Given the description of an element on the screen output the (x, y) to click on. 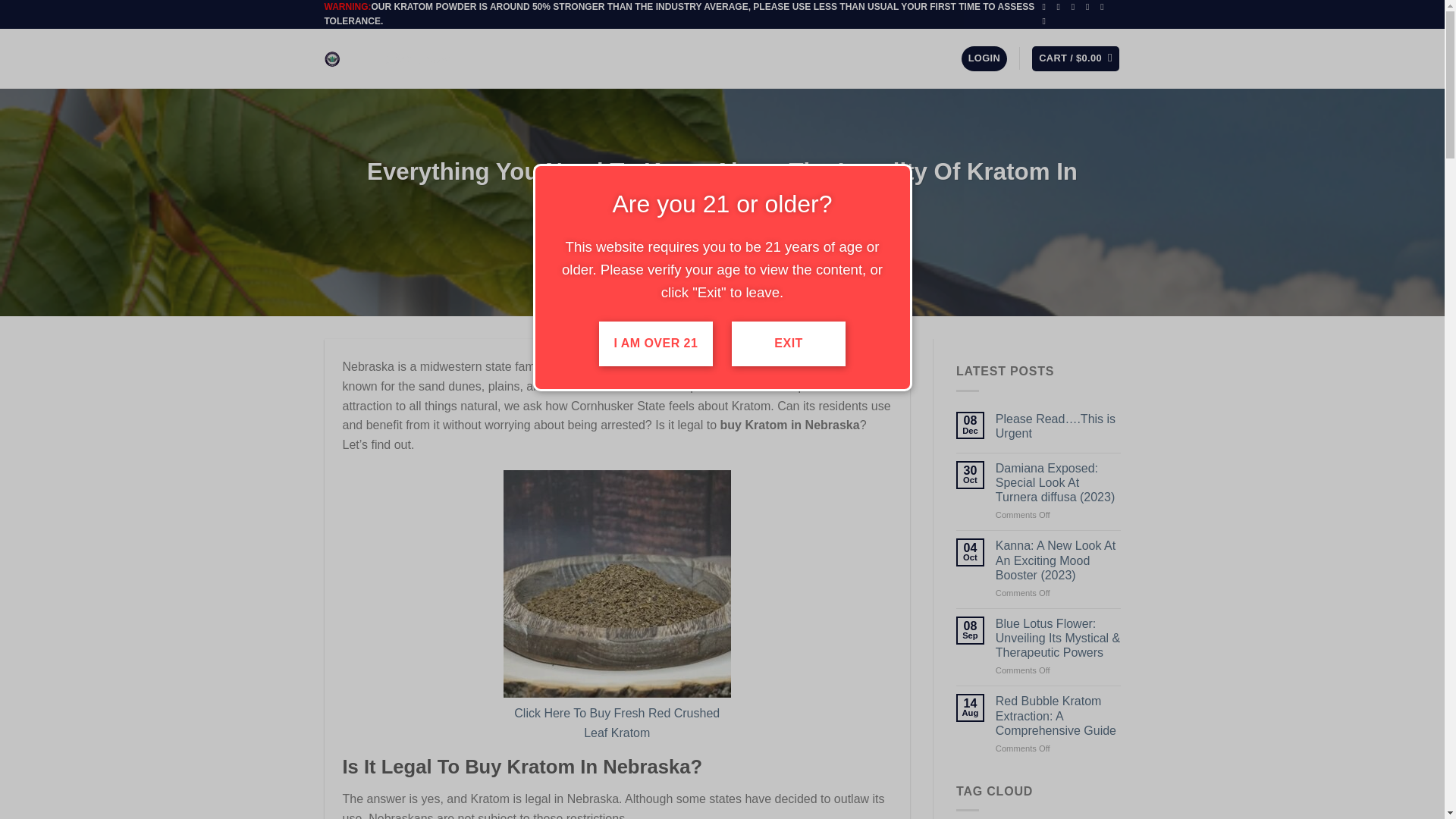
LOGIN (983, 58)
Cart (1075, 58)
Click Here To Buy Fresh Red Crushed Leaf Kratom (616, 722)
Socratic Solutions - The Best Value in Kratom (386, 59)
Login (983, 58)
CONTACT (606, 58)
LOCATIONS (701, 58)
INFO (556, 58)
SHOP (513, 58)
